Given the description of an element on the screen output the (x, y) to click on. 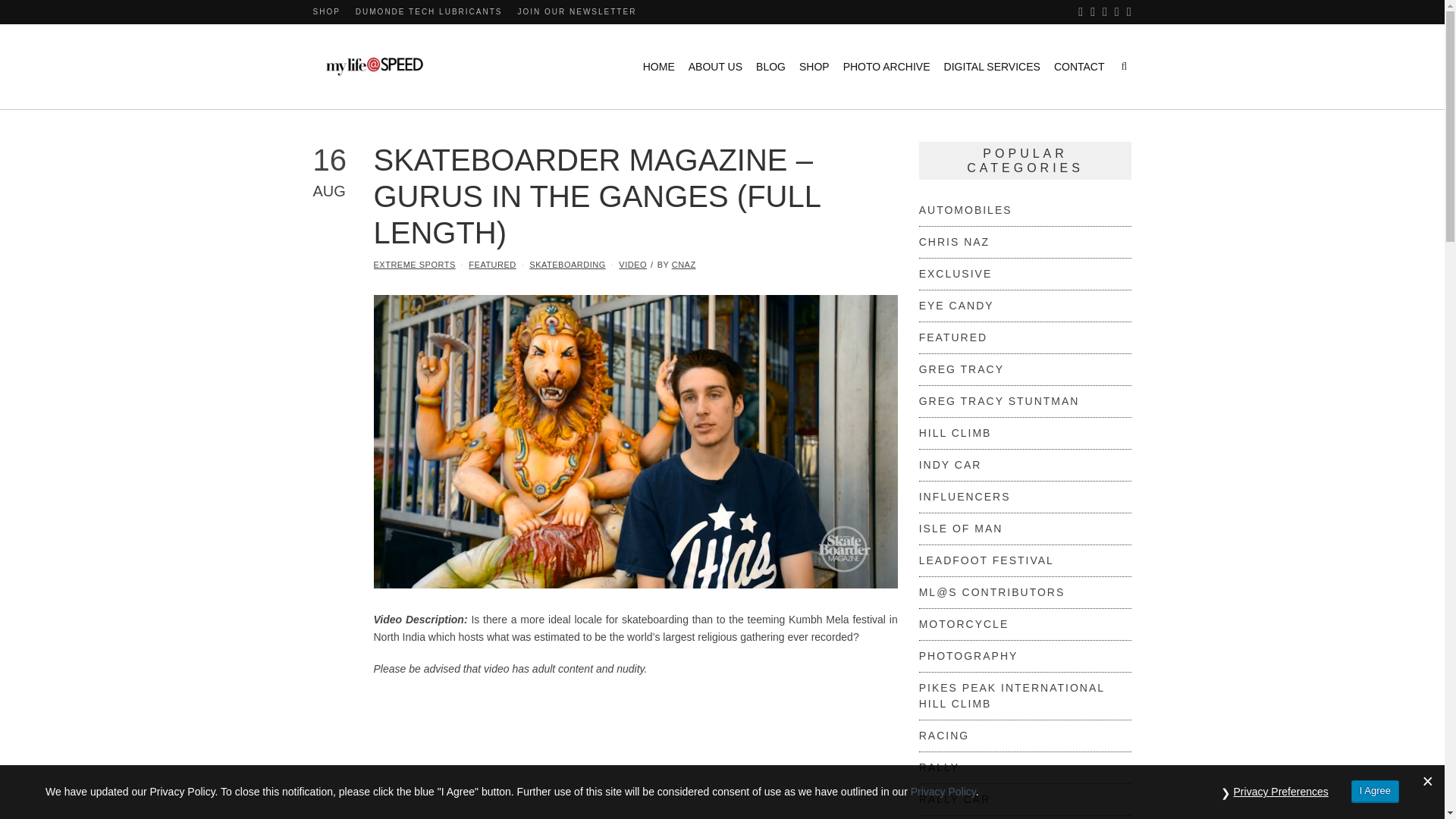
DUMONDE TECH LUBRICANTS (428, 11)
EXTREME SPORTS (413, 264)
ABOUT US (715, 66)
PHOTO ARCHIVE (886, 66)
SHOP (326, 11)
August 16, 2013 (342, 170)
FEATURED (491, 264)
SKATEBOARDING (567, 264)
DIGITAL SERVICES (992, 66)
JOIN OUR NEWSLETTER (576, 11)
